Given the description of an element on the screen output the (x, y) to click on. 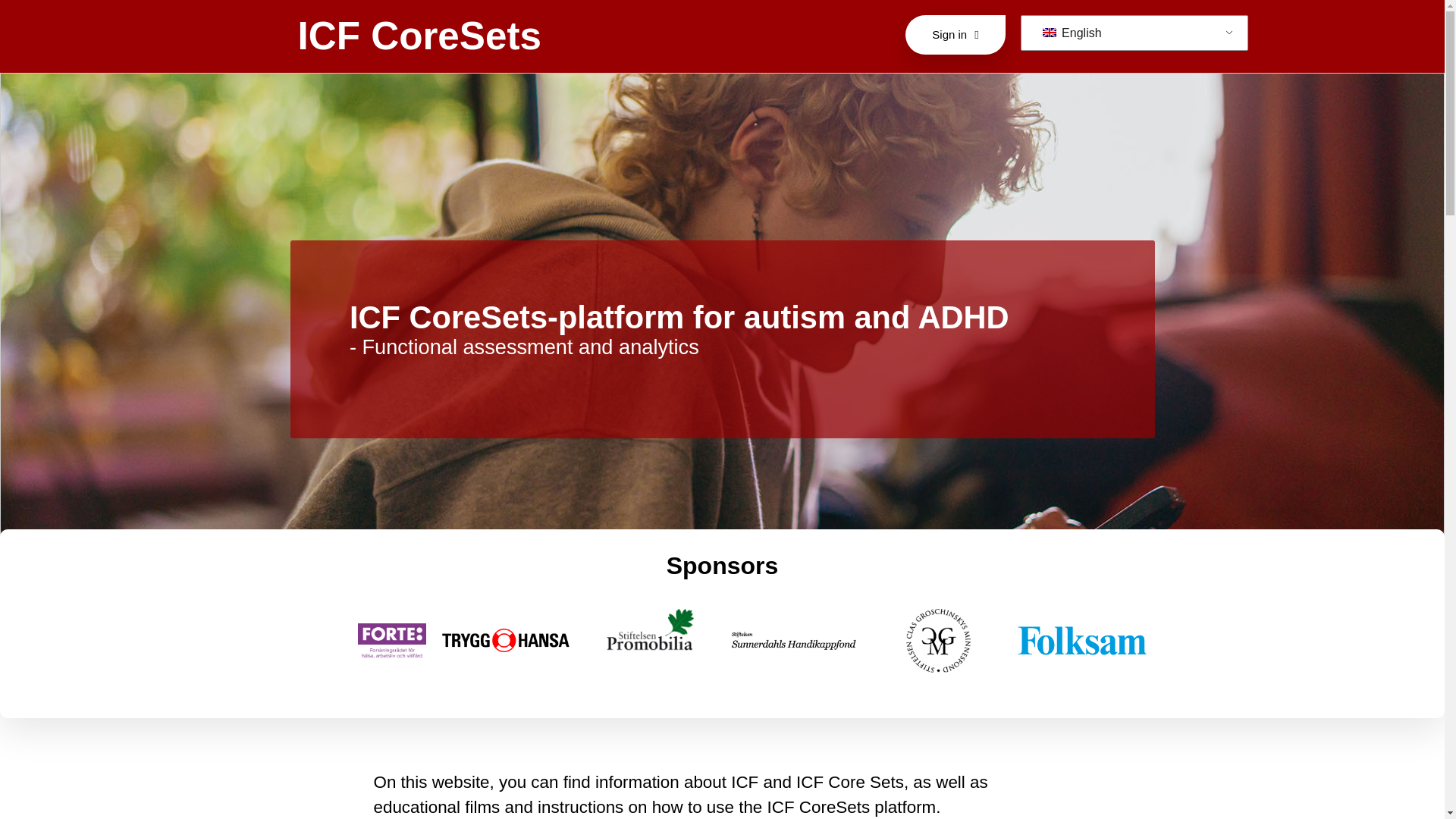
English (1130, 32)
ICF CoreSets (418, 35)
English (1049, 31)
Sign in (954, 34)
English (1130, 32)
